Given the description of an element on the screen output the (x, y) to click on. 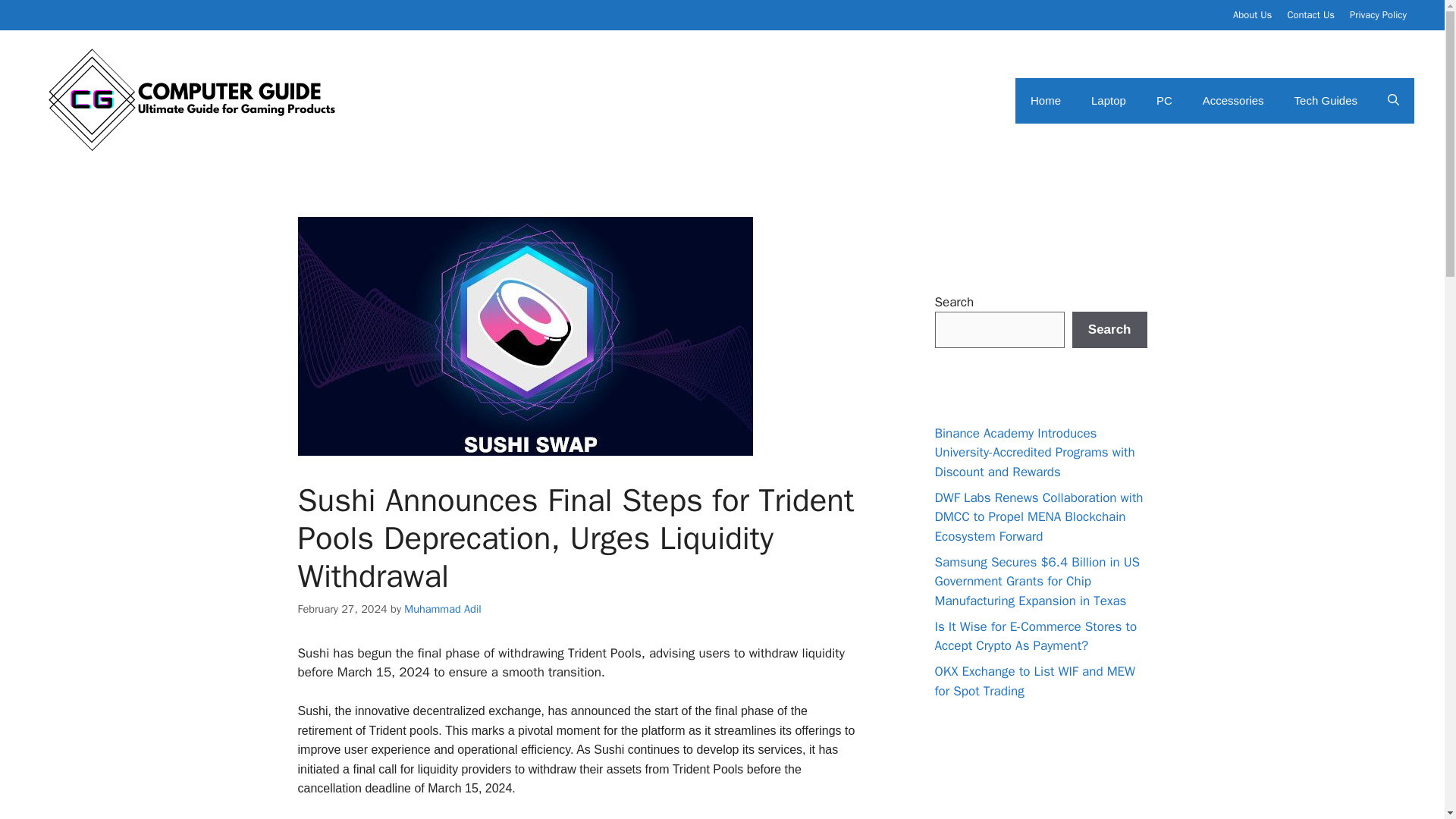
Muhammad Adil (442, 608)
View all posts by Muhammad Adil (442, 608)
Search (1109, 330)
Tech Guides (1326, 99)
OKX Exchange to List WIF and MEW for Spot Trading (1034, 681)
Home (1044, 99)
Contact Us (1311, 14)
About Us (1252, 14)
Accessories (1233, 99)
Privacy Policy (1377, 14)
PC (1164, 99)
Laptop (1108, 99)
